Given the description of an element on the screen output the (x, y) to click on. 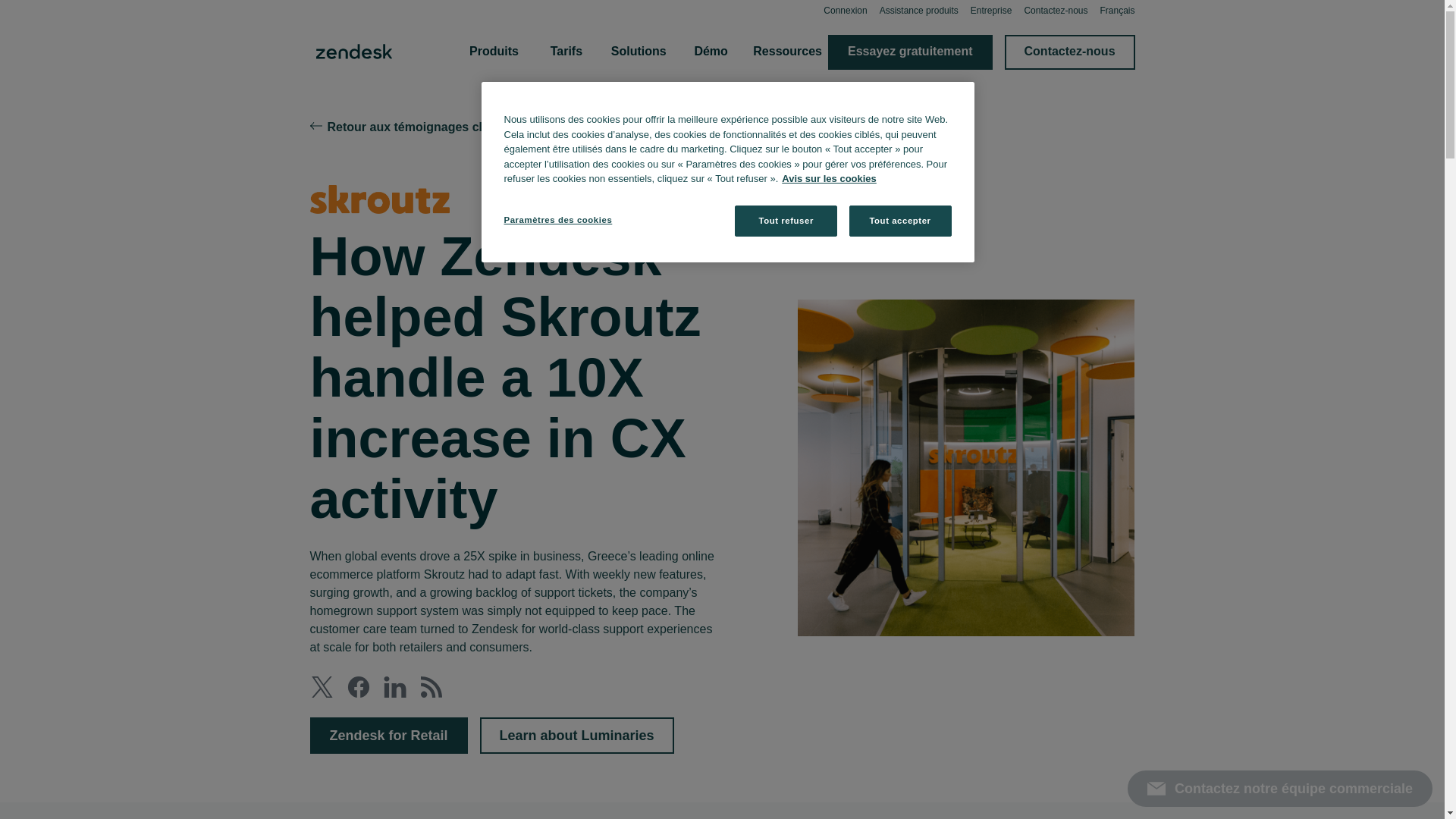
Assistance produits (918, 9)
Essayez gratuitement (910, 52)
Connexion (845, 9)
Entreprise (991, 9)
